Given the description of an element on the screen output the (x, y) to click on. 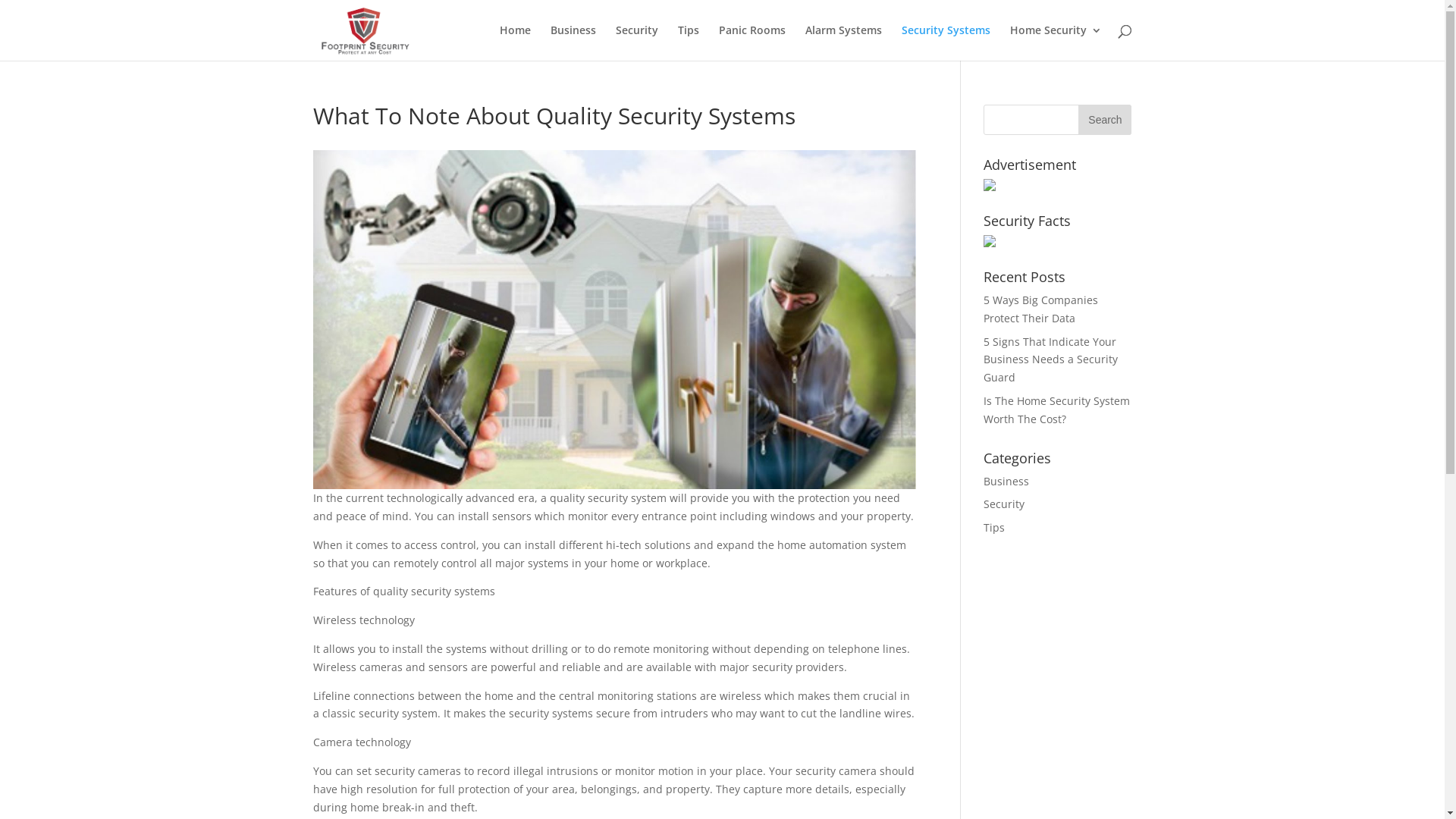
Business Element type: text (1006, 480)
Alarm Systems Element type: text (843, 42)
Business Element type: text (573, 42)
Security Systems Element type: text (944, 42)
Search Element type: text (1104, 119)
Security Element type: text (1003, 503)
Is The Home Security System Worth The Cost? Element type: text (1056, 409)
Panic Rooms Element type: text (751, 42)
Tips Element type: text (688, 42)
5 Signs That Indicate Your Business Needs a Security Guard Element type: text (1050, 359)
Tips Element type: text (993, 527)
Home Element type: text (514, 42)
Home Security Element type: text (1055, 42)
5 Ways Big Companies Protect Their Data Element type: text (1040, 308)
Security Element type: text (636, 42)
